Given the description of an element on the screen output the (x, y) to click on. 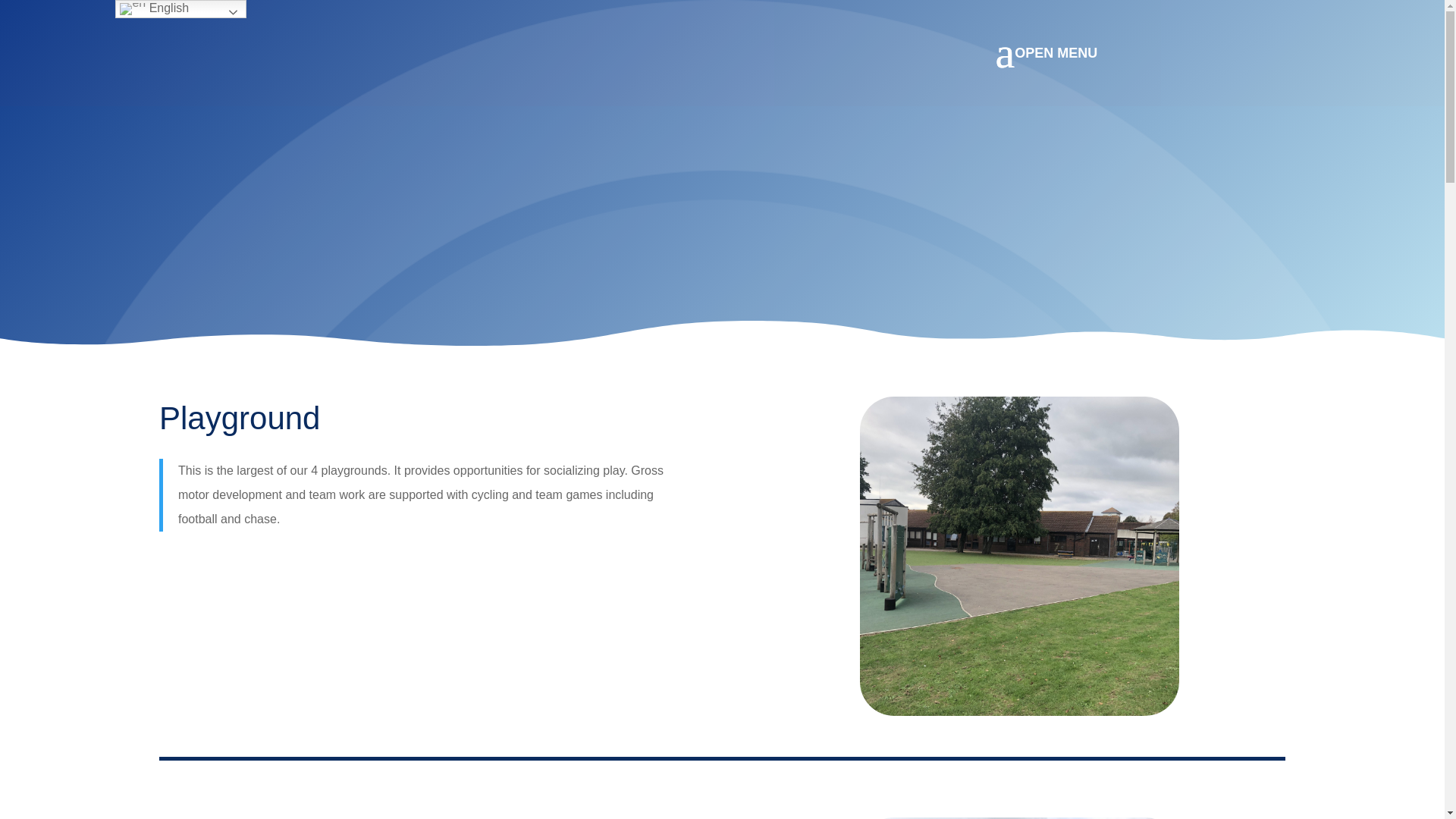
play (1019, 555)
